Given the description of an element on the screen output the (x, y) to click on. 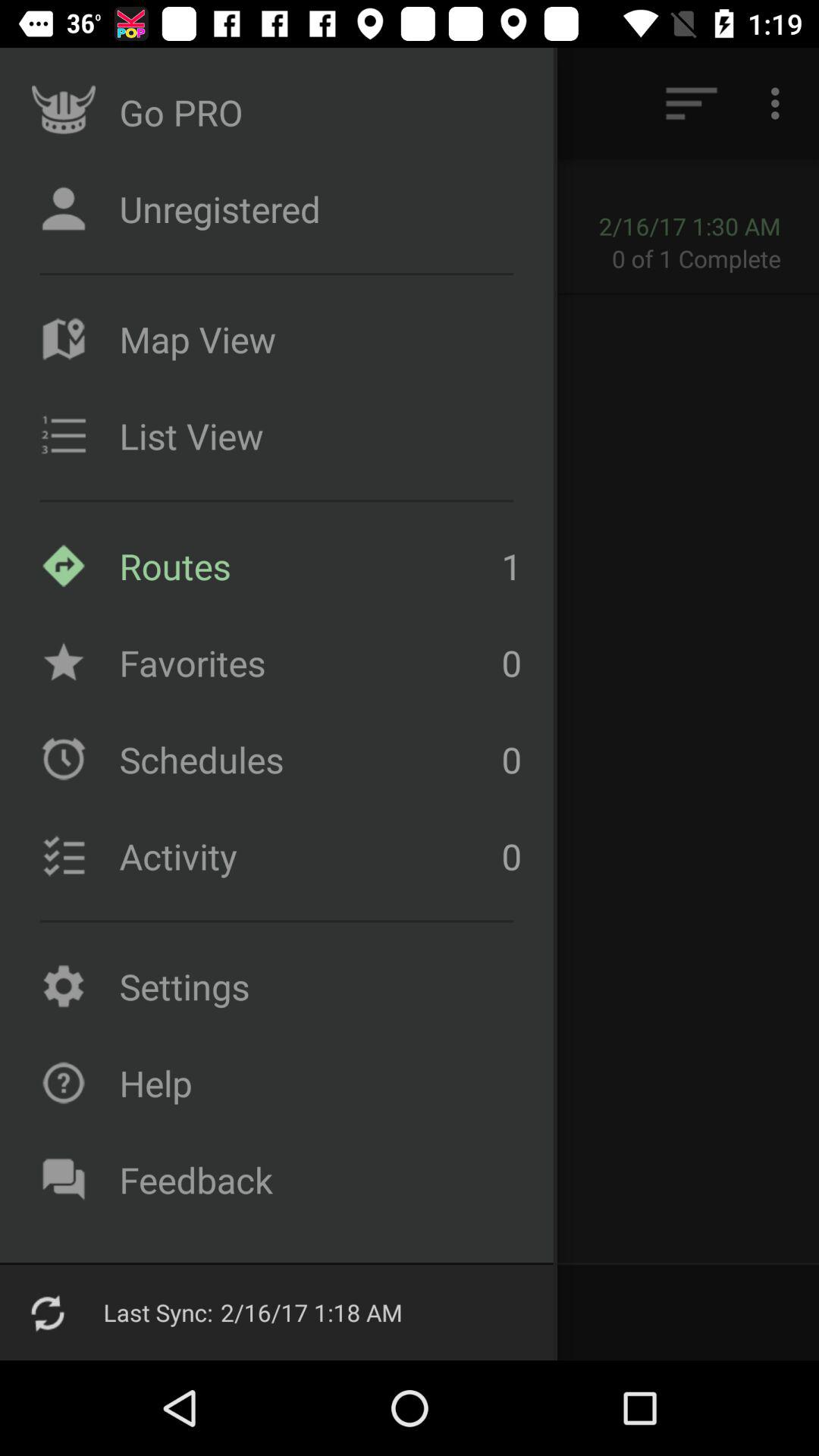
turn off item below the routes item (306, 662)
